Given the description of an element on the screen output the (x, y) to click on. 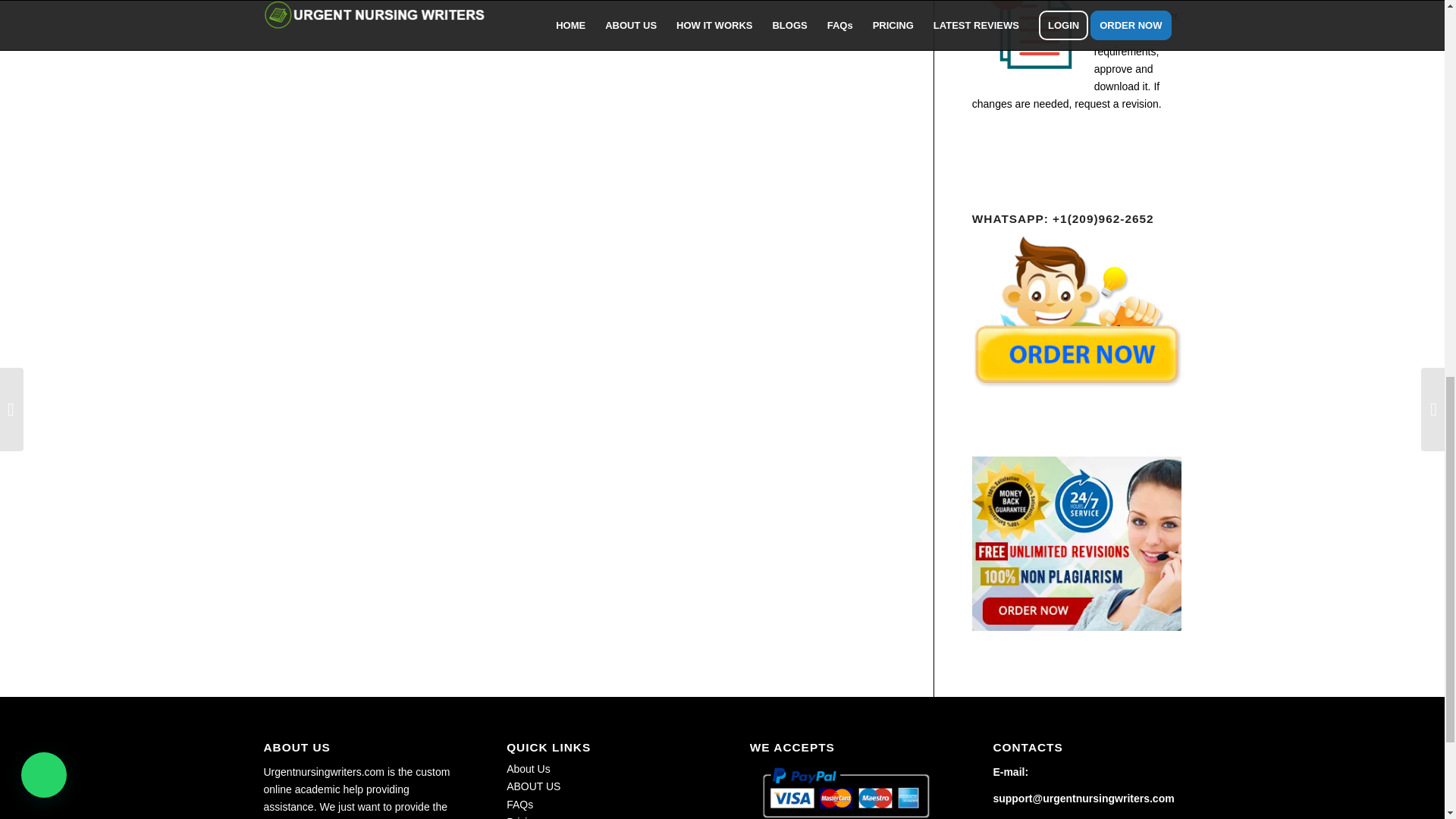
ABOUT US (533, 786)
Pricing (522, 817)
About Us (528, 768)
FAQs (519, 804)
